Given the description of an element on the screen output the (x, y) to click on. 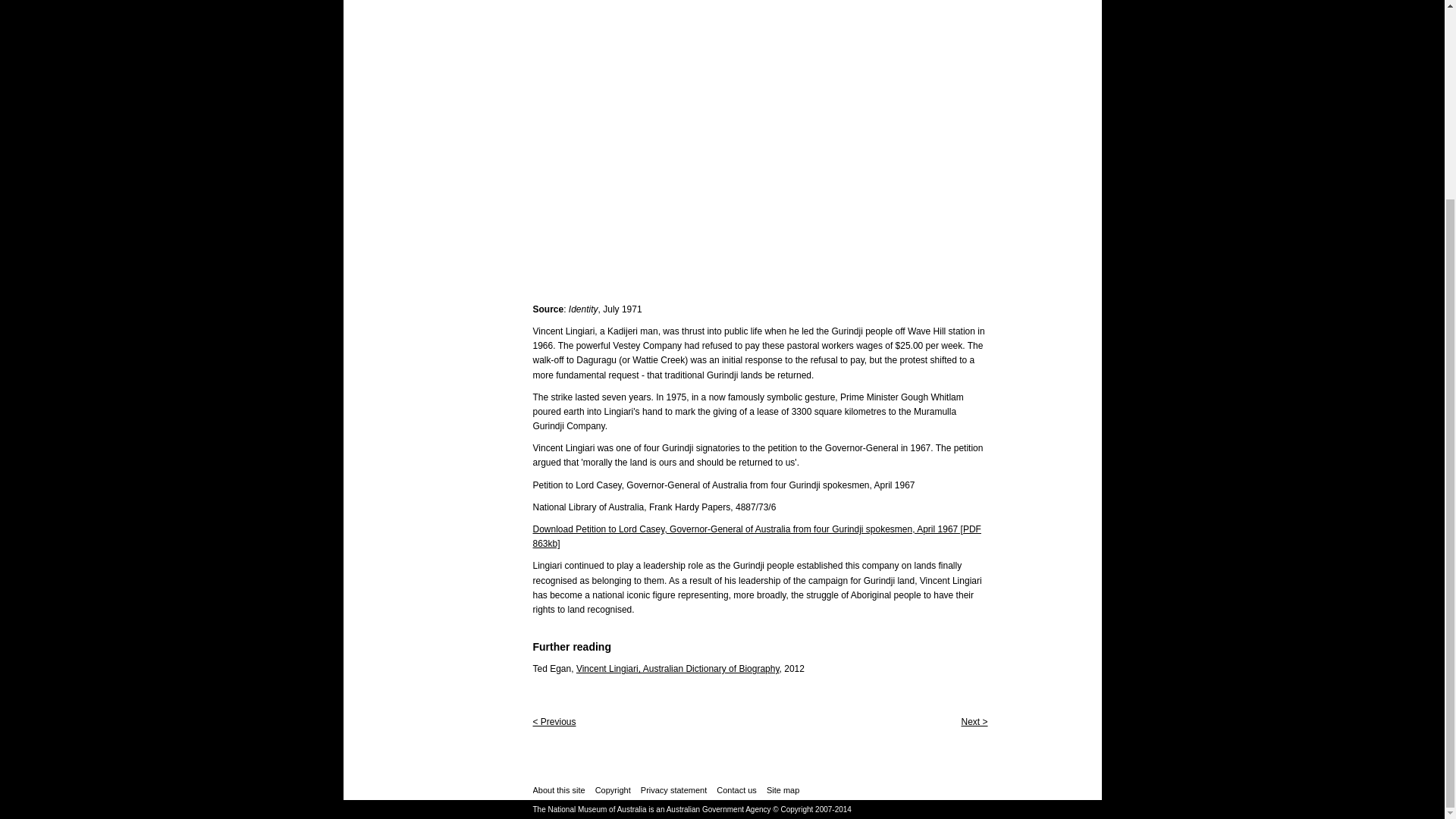
Privacy statement (673, 789)
Site map (783, 789)
Vincent Lingiari, Australian Dictionary of Biography (677, 668)
Copyright (612, 789)
Contact us (736, 789)
About this site (558, 789)
